Given the description of an element on the screen output the (x, y) to click on. 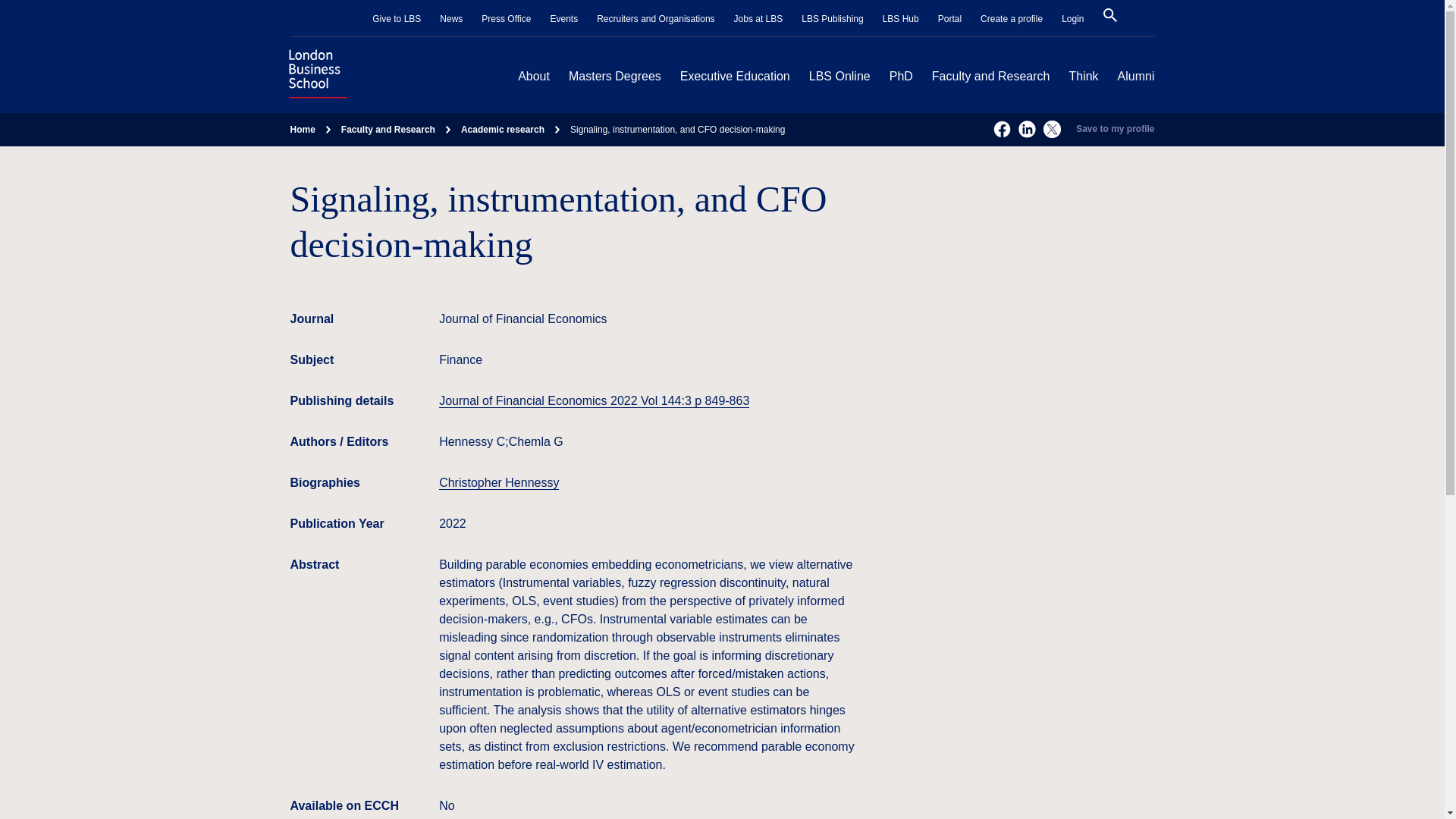
News (451, 18)
Think (1082, 75)
Jobs at LBS (758, 18)
Alumni (1136, 75)
Masters Degrees (615, 75)
Faculty and Research (990, 75)
About (534, 75)
LBS Online (839, 75)
Give to LBS (396, 18)
Executive Education (734, 75)
Events (564, 18)
Portal (948, 18)
Recruiters and Organisations (655, 18)
LBS Publishing (832, 18)
PhD (900, 75)
